Given the description of an element on the screen output the (x, y) to click on. 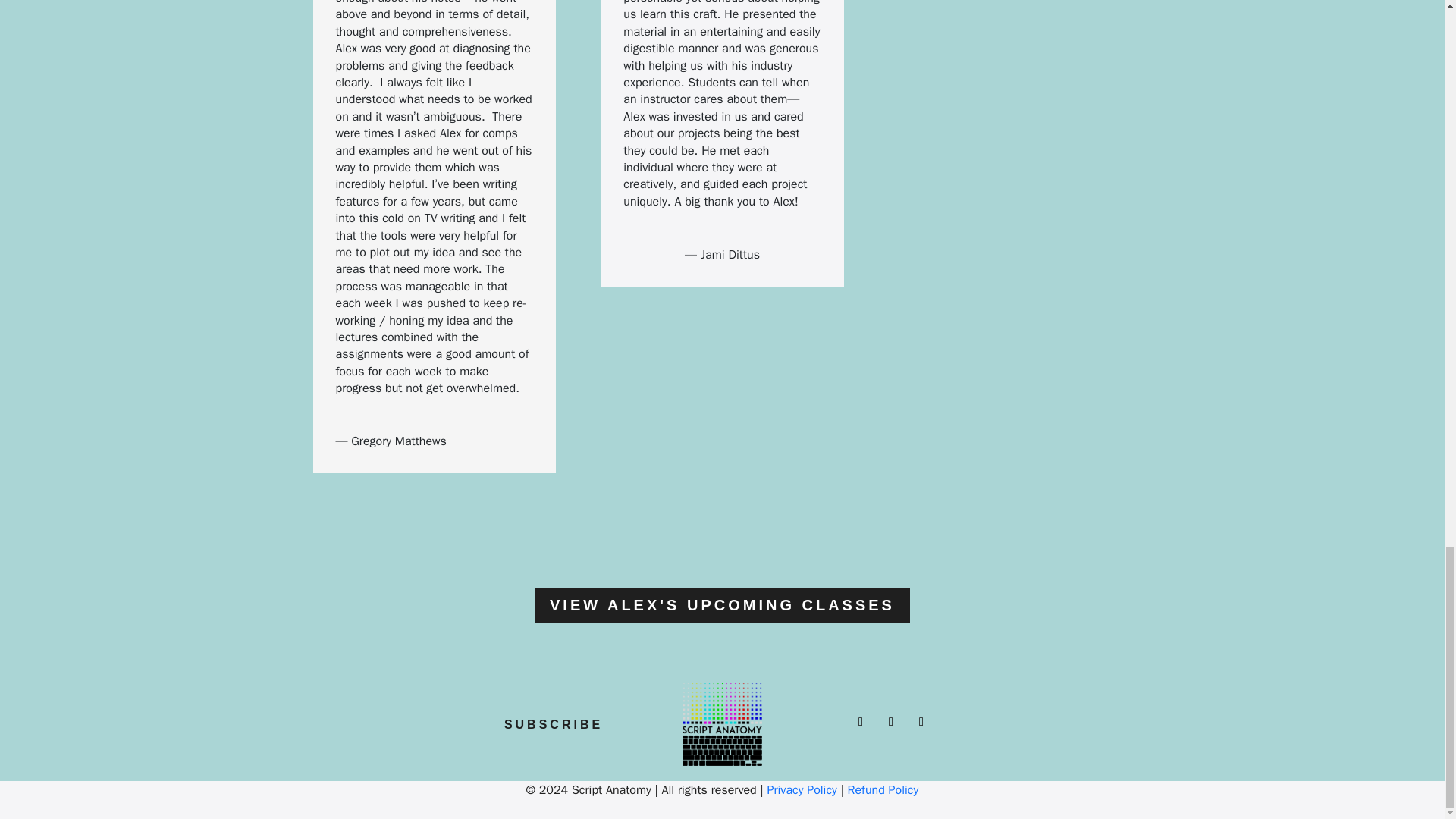
Follow on Instagram (890, 721)
Refund Policy (882, 789)
Follow on Facebook (920, 721)
SUBSCRIBE (553, 724)
Privacy Policy (801, 789)
Script-Anatomy-Logo (721, 724)
VIEW ALEX'S UPCOMING CLASSES (722, 605)
Follow on X (860, 721)
